Given the description of an element on the screen output the (x, y) to click on. 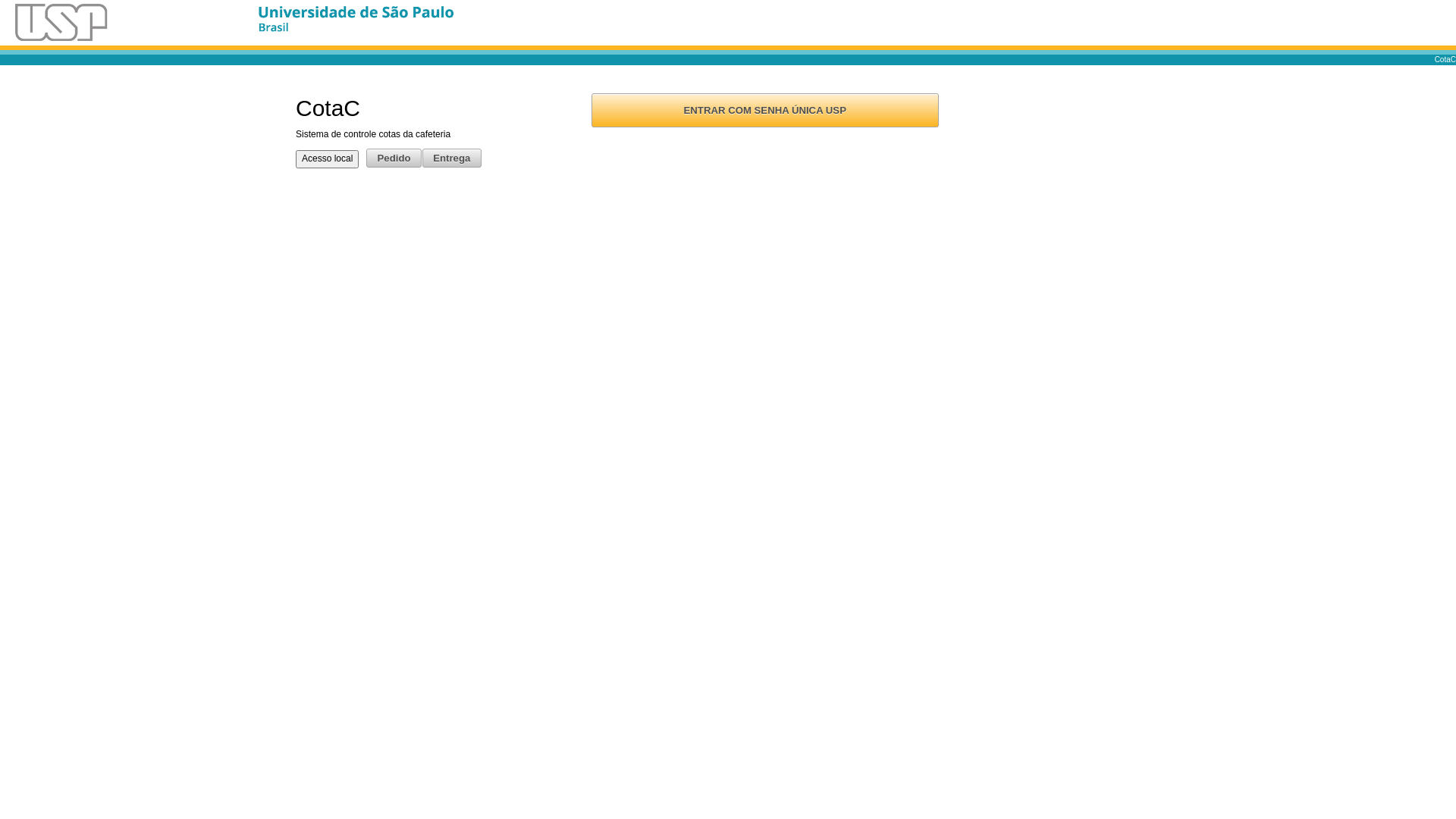
Entrega Element type: text (451, 157)
Acesso local Element type: text (326, 158)
Pedido Element type: text (393, 157)
. Element type: text (356, 22)
